Given the description of an element on the screen output the (x, y) to click on. 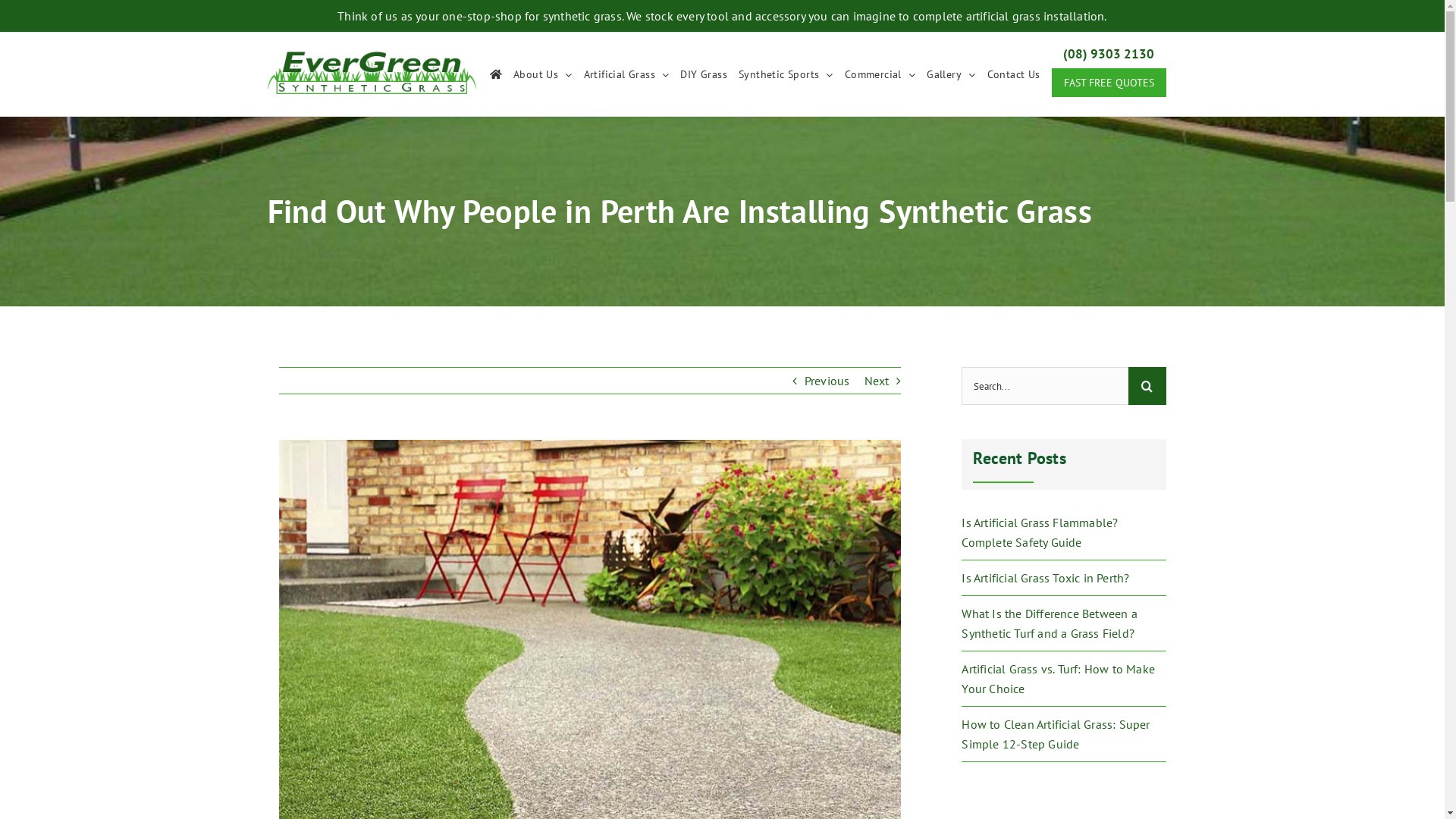
Previous Element type: text (827, 380)
Gallery Element type: text (950, 74)
(08) 9303 2130 Element type: text (1108, 46)
Synthetic Sports Element type: text (785, 74)
Contact Us Element type: text (1013, 74)
Commercial Element type: text (879, 74)
About Us Element type: text (542, 74)
Artificial Grass vs. Turf: How to Make Your Choice Element type: text (1057, 678)
Artificial Grass Element type: text (626, 74)
Is Artificial Grass Flammable? Complete Safety Guide Element type: text (1039, 531)
How to Clean Artificial Grass: Super Simple 12-Step Guide Element type: text (1055, 733)
FAST FREE QUOTES Element type: text (1108, 82)
Next Element type: text (876, 380)
DIY Grass Element type: text (703, 74)
Is Artificial Grass Toxic in Perth? Element type: text (1045, 577)
